Given the description of an element on the screen output the (x, y) to click on. 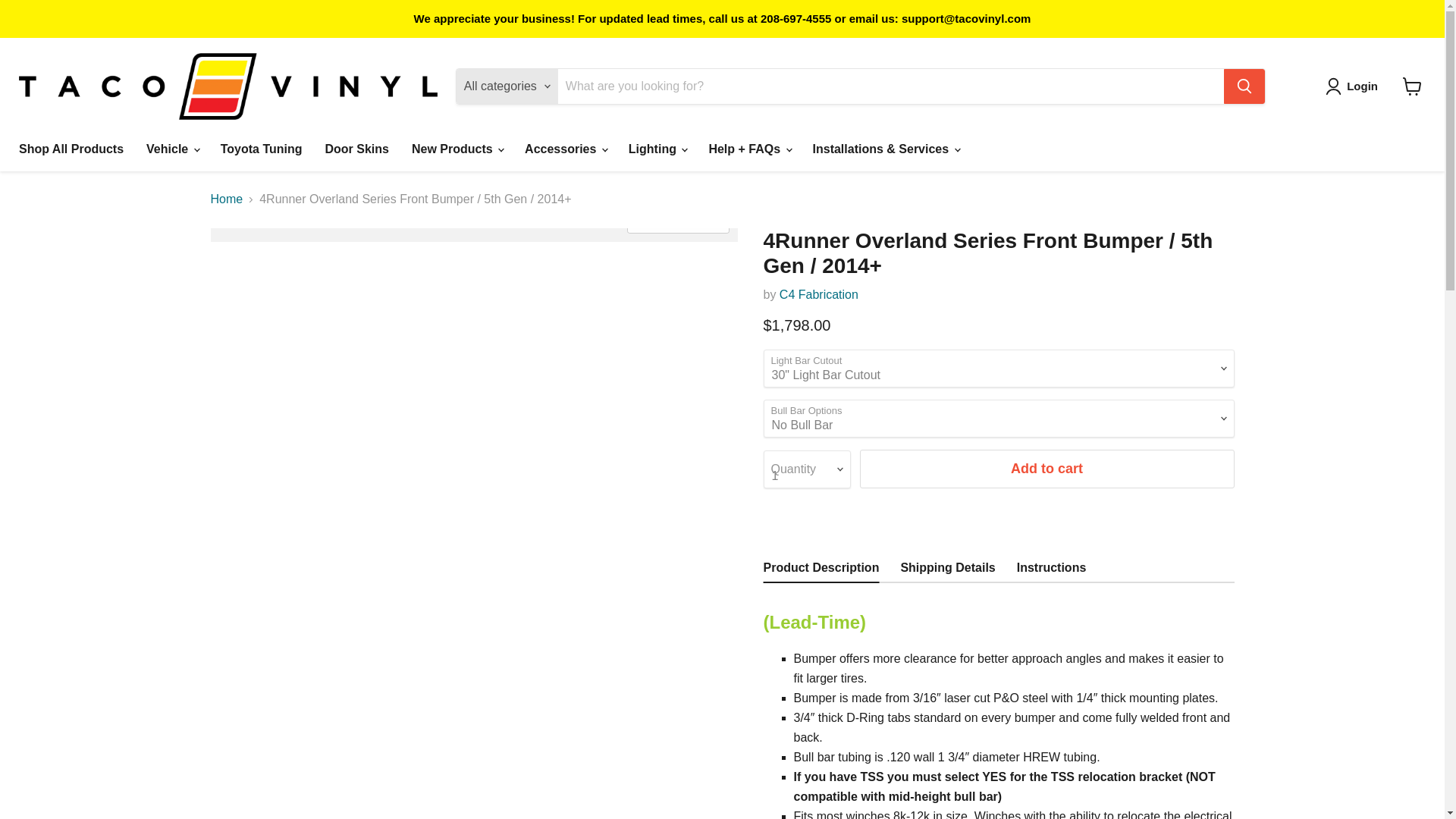
View cart (1411, 86)
Login (1362, 85)
Shop All Products (71, 149)
C4 Fabrication (818, 294)
